Given the description of an element on the screen output the (x, y) to click on. 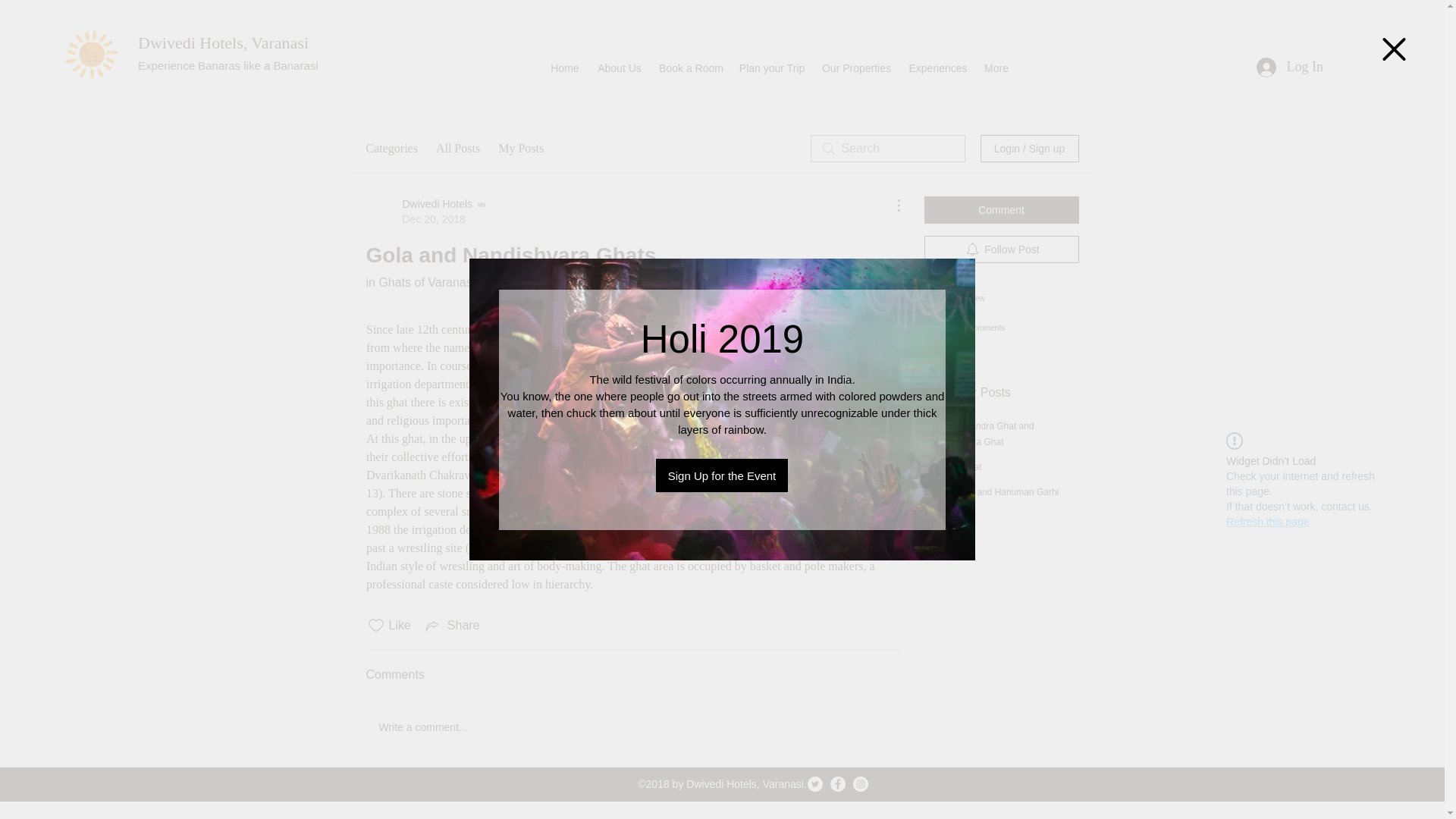
Experiences (938, 65)
Categories (390, 148)
Log In (1288, 67)
Our Properties (856, 65)
Home (564, 65)
0 (426, 211)
My Posts (1374, 64)
All Posts (520, 148)
Share (457, 148)
Plan your Trip (451, 625)
0 (771, 65)
Book a Room (1374, 64)
Comment (690, 65)
Back to site (1000, 209)
